Given the description of an element on the screen output the (x, y) to click on. 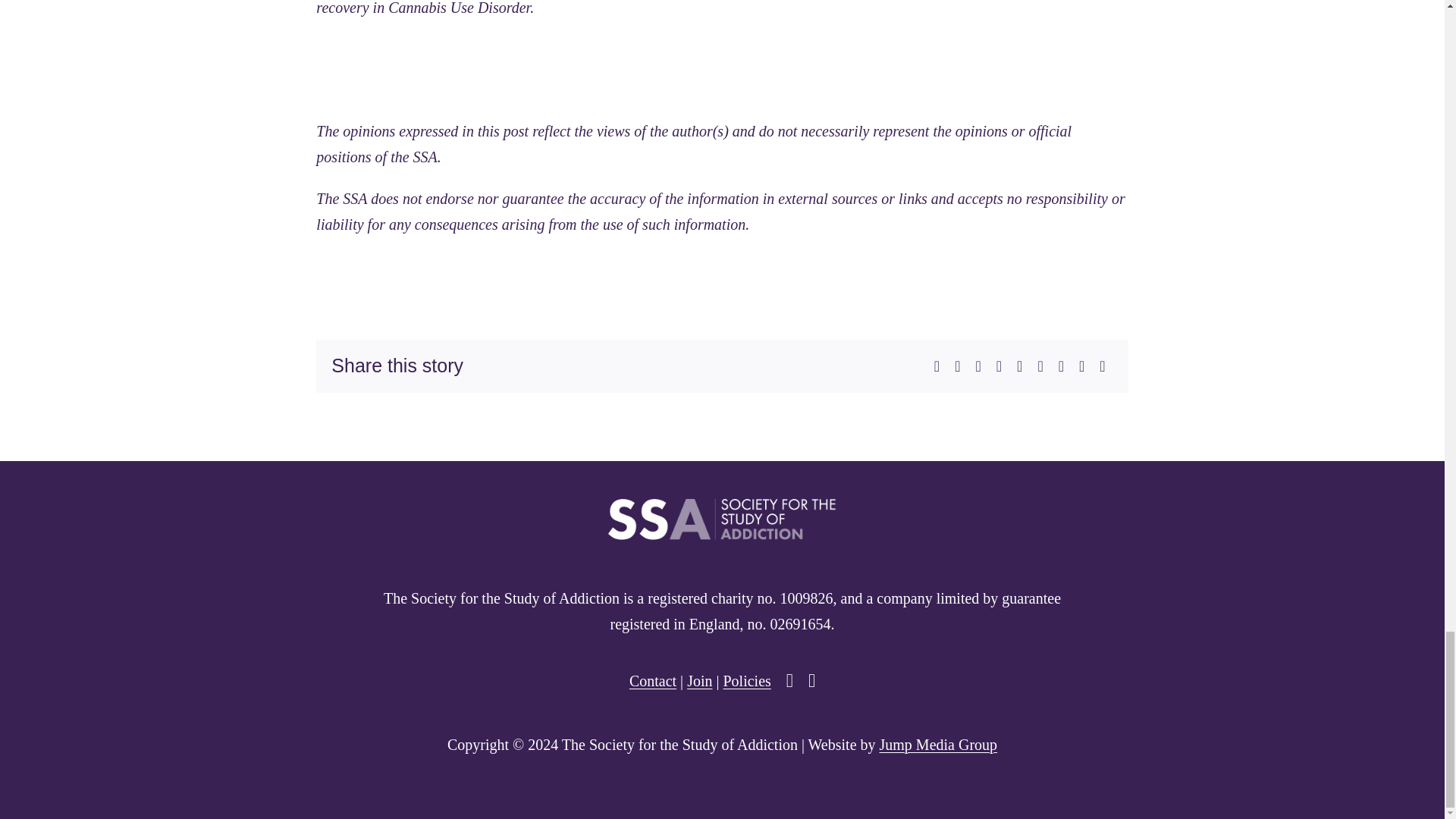
Jump Media Group (938, 744)
Contact (652, 680)
Policies (746, 680)
Join (699, 680)
